Given the description of an element on the screen output the (x, y) to click on. 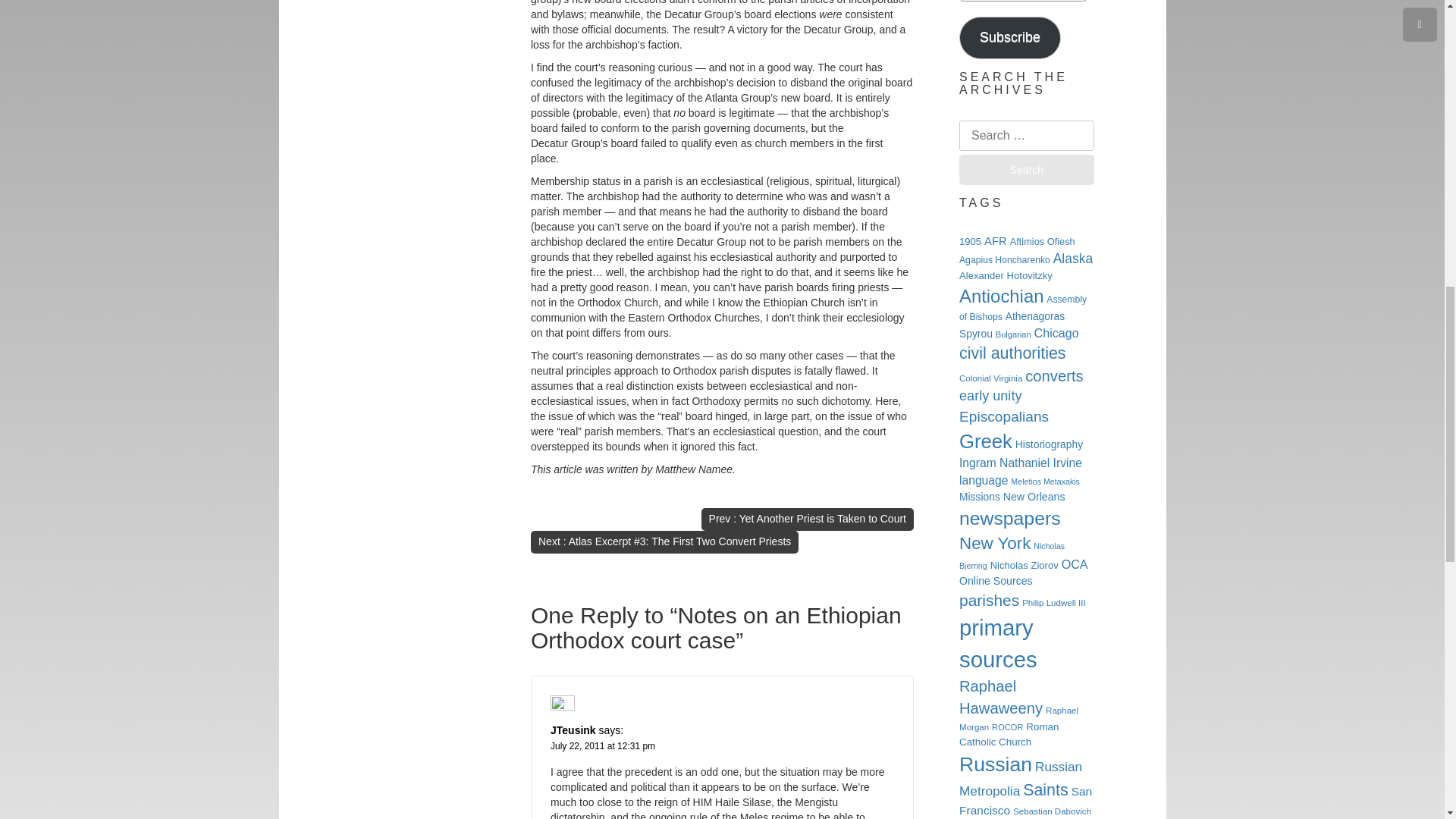
Colonial Virginia (990, 378)
Ingram Nathaniel Irvine (1020, 462)
Assembly of Bishops (1022, 308)
Prev : Yet Another Priest is Taken to Court (807, 518)
Chicago (1055, 332)
1905 (970, 241)
Bulgarian (1012, 334)
Aftimios Ofiesh (1042, 241)
Alexander Hotovitzky (1005, 275)
AFR (995, 241)
